Given the description of an element on the screen output the (x, y) to click on. 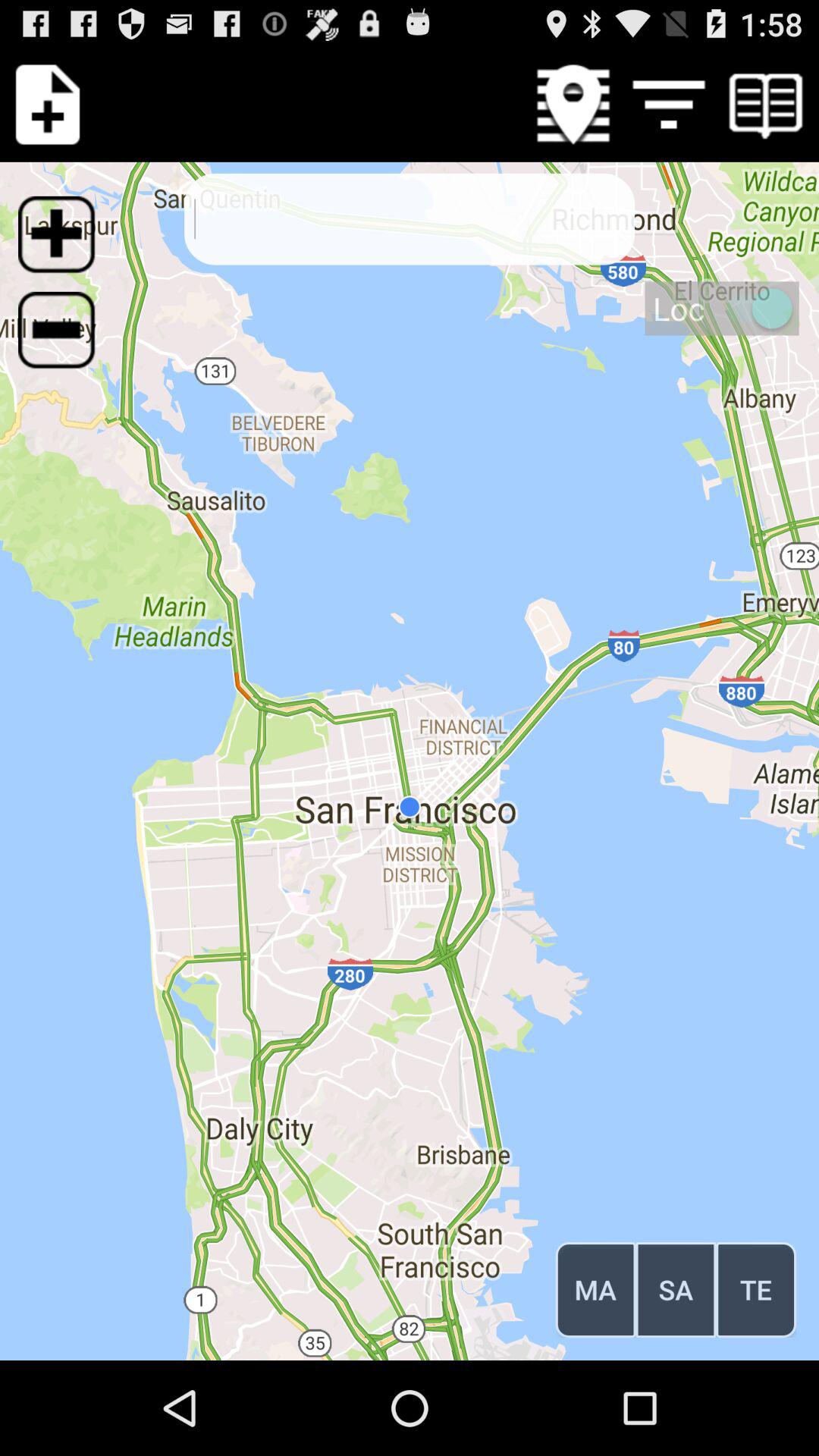
choose sa button (675, 1289)
